Given the description of an element on the screen output the (x, y) to click on. 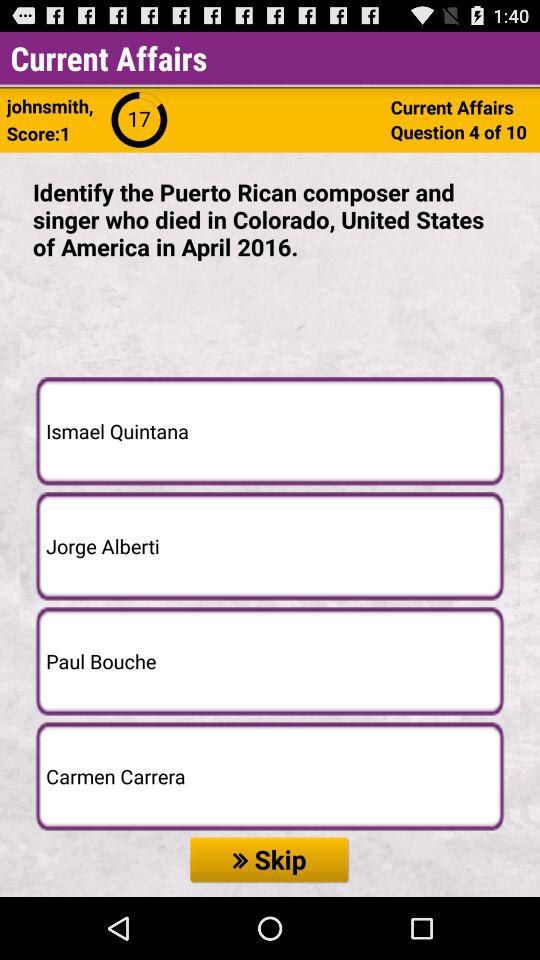
press the icon above jorge alberti button (270, 430)
